Given the description of an element on the screen output the (x, y) to click on. 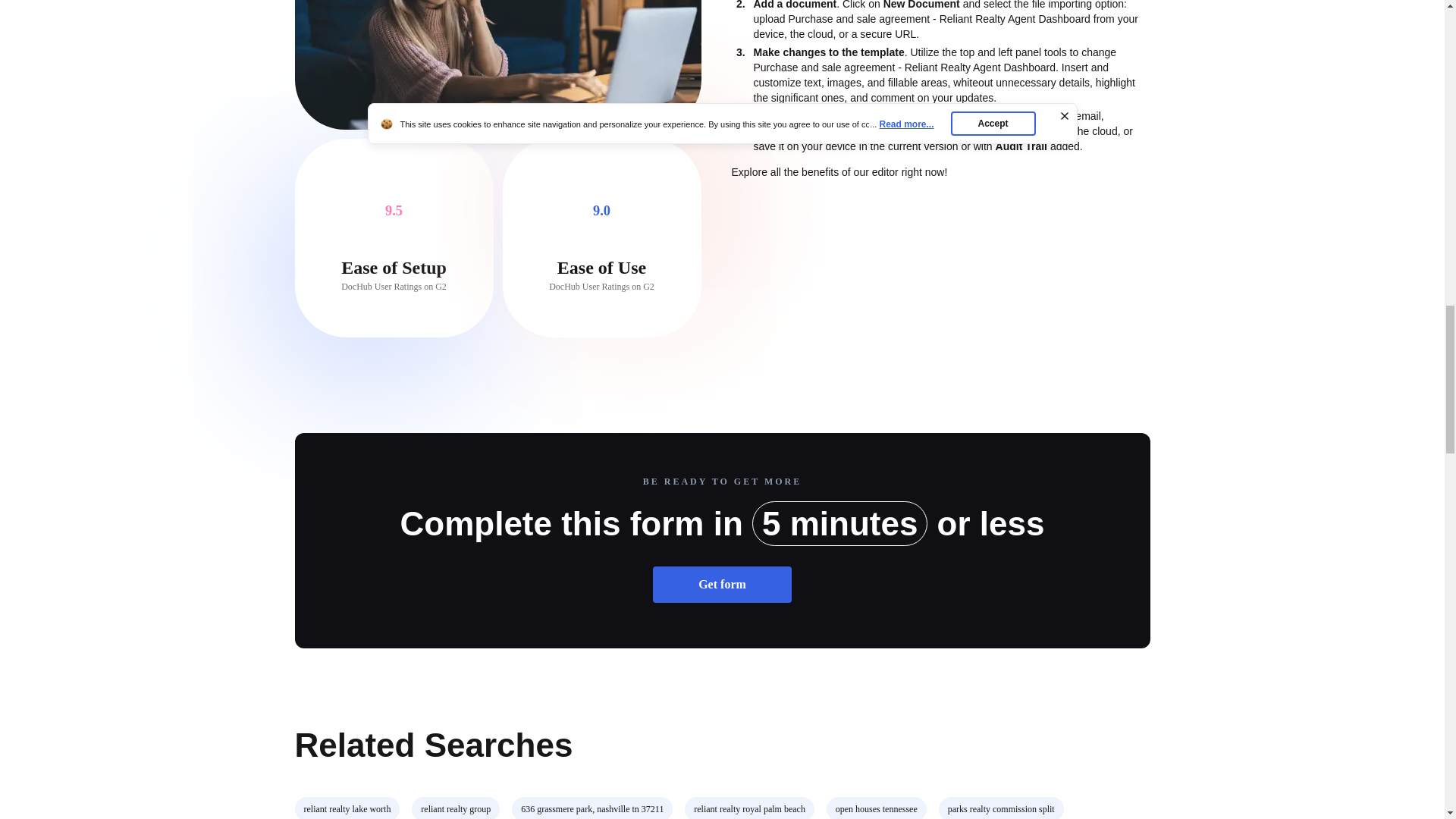
9.0 (601, 211)
Get form (722, 584)
9.5 (394, 211)
